Given the description of an element on the screen output the (x, y) to click on. 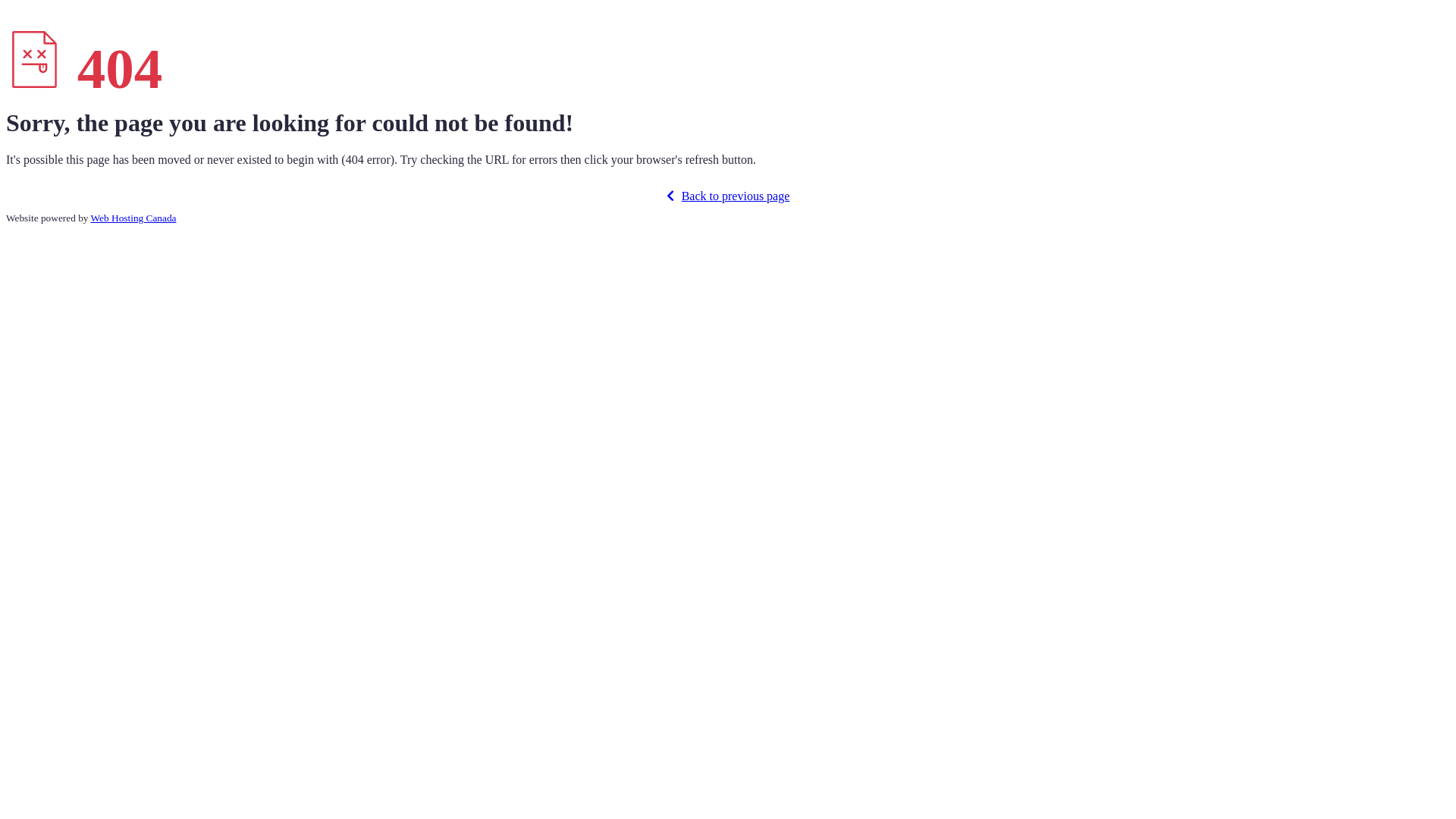
Back to previous page Element type: text (728, 196)
Web Hosting Canada Element type: text (133, 217)
